Given the description of an element on the screen output the (x, y) to click on. 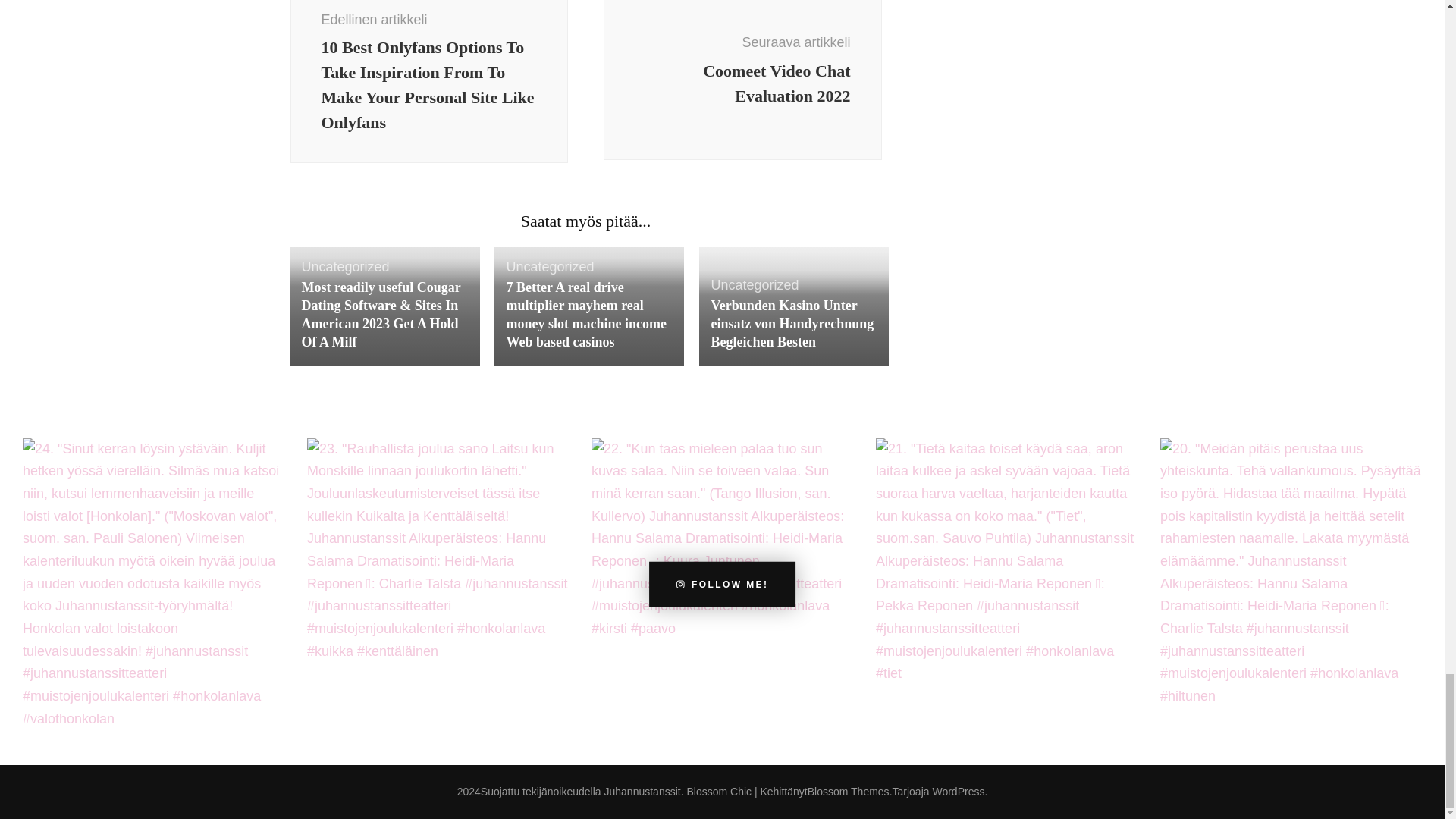
Uncategorized (753, 284)
Uncategorized (743, 79)
Uncategorized (549, 266)
